Given the description of an element on the screen output the (x, y) to click on. 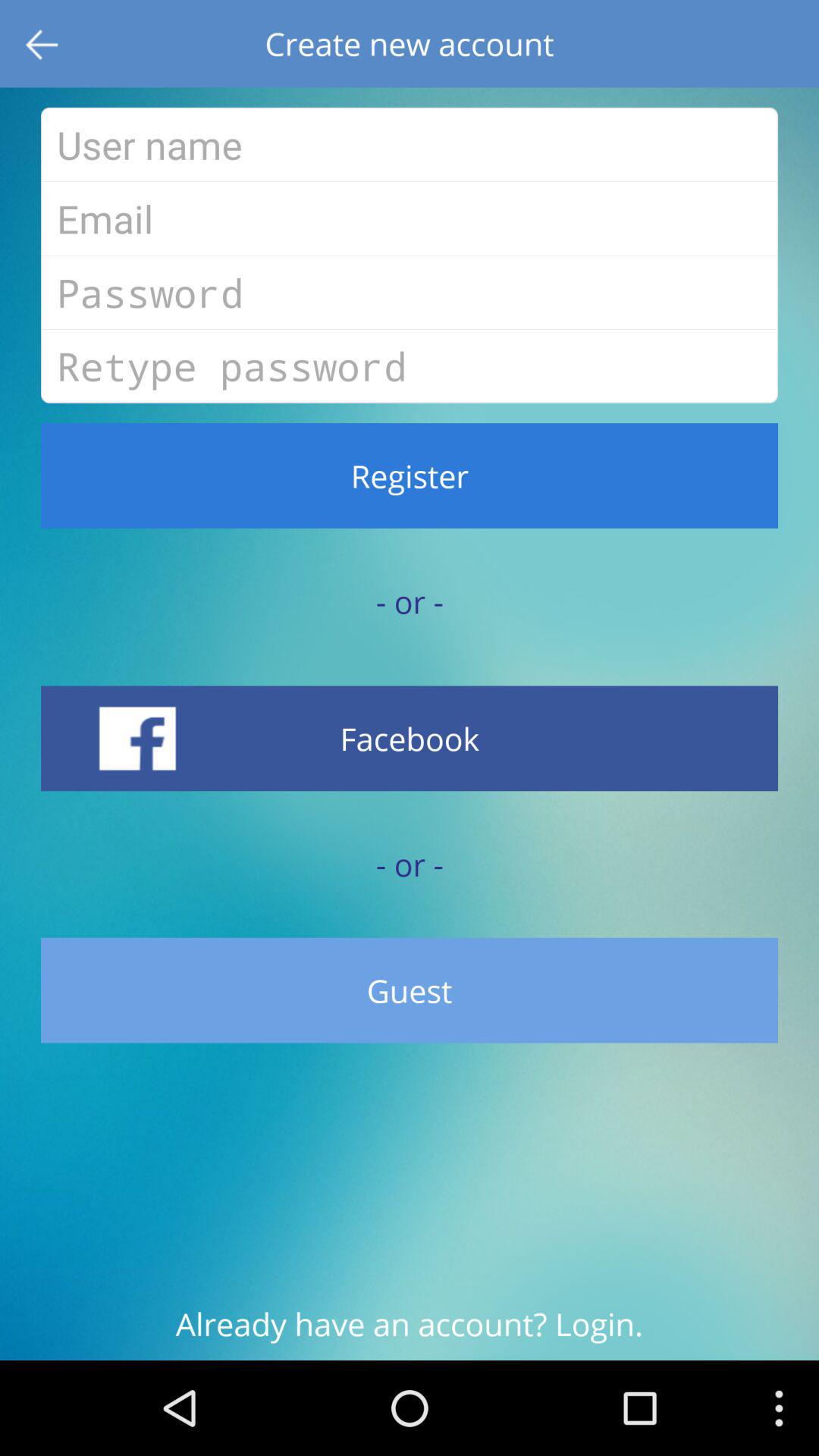
swipe to facebook (409, 738)
